Given the description of an element on the screen output the (x, y) to click on. 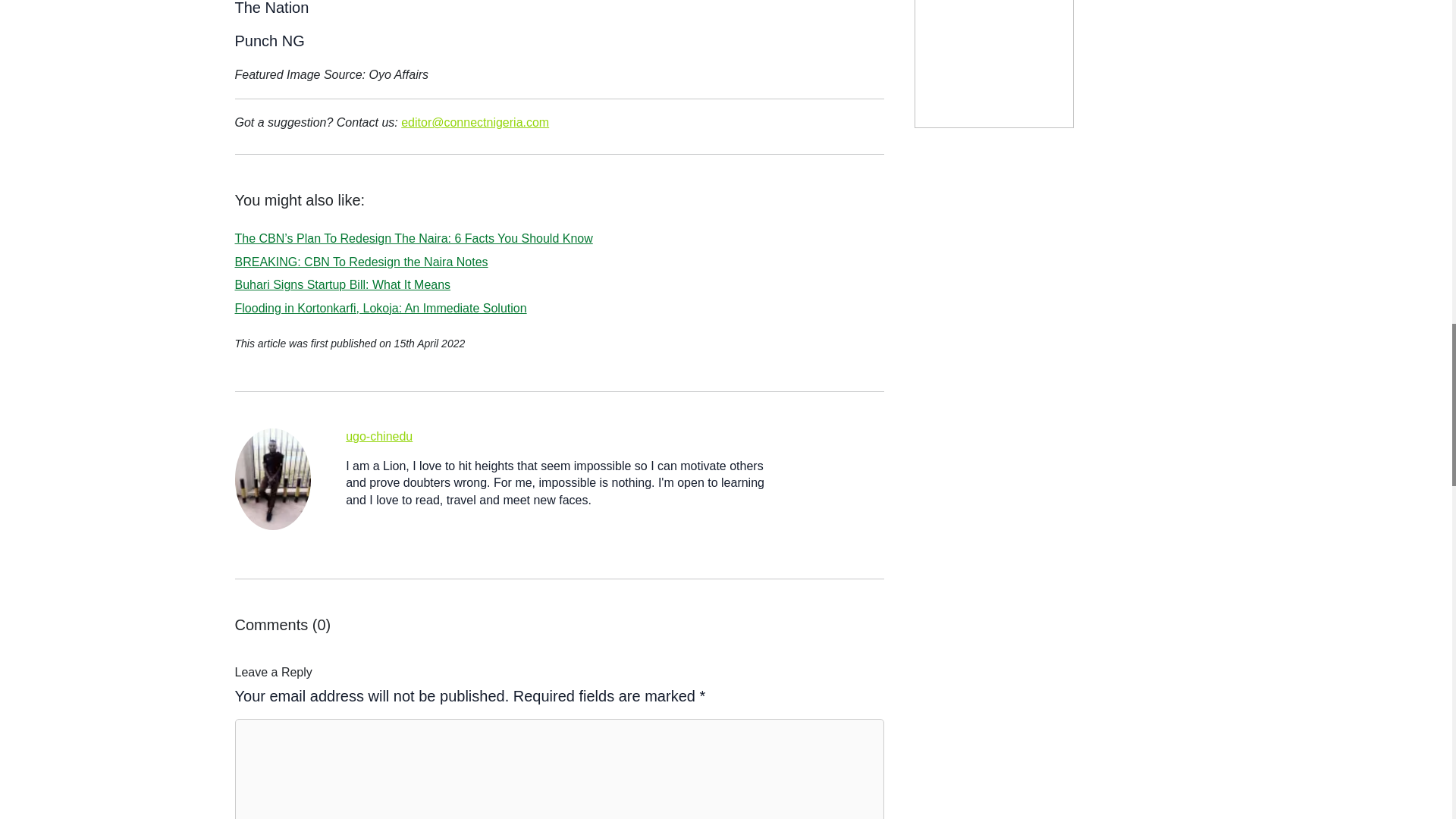
BREAKING: CBN To Redesign the Naira Notes (360, 261)
Flooding in Kortonkarfi, Lokoja: An Immediate Solution (380, 308)
Buhari Signs Startup Bill: What It Means (342, 284)
ugo-chinedu (379, 436)
